Given the description of an element on the screen output the (x, y) to click on. 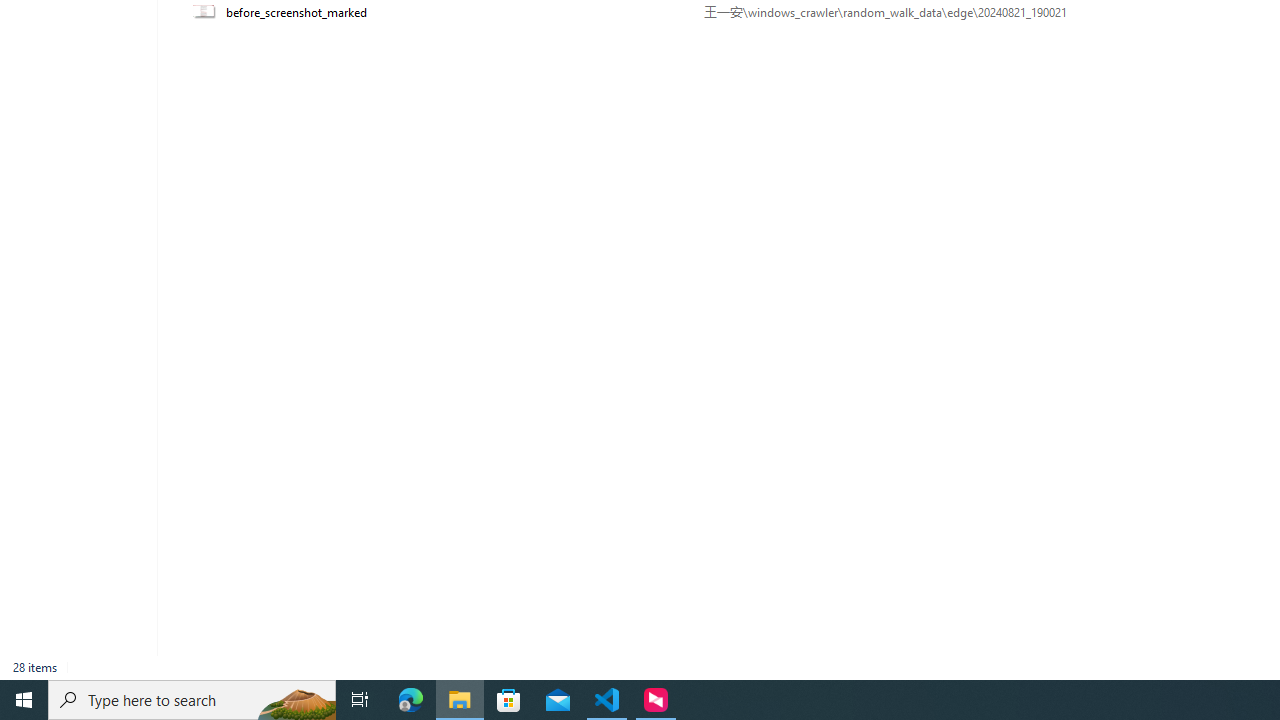
Class: UIImage (205, 12)
Path (936, 12)
Name (457, 12)
